Given the description of an element on the screen output the (x, y) to click on. 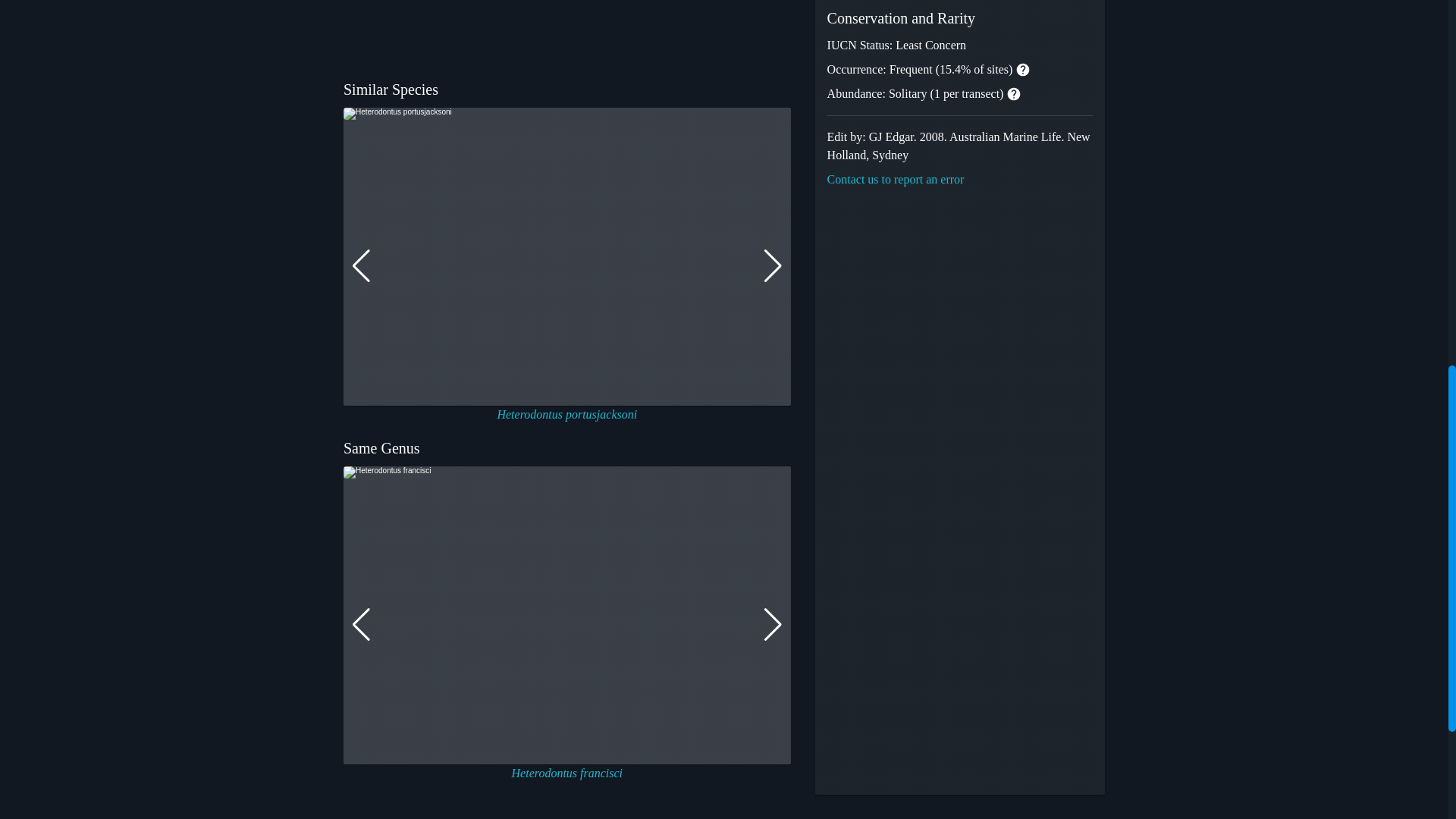
Heterodontus portusjacksoni (566, 413)
Heterodontus francisci (567, 772)
Contact us to report an error (895, 178)
